Given the description of an element on the screen output the (x, y) to click on. 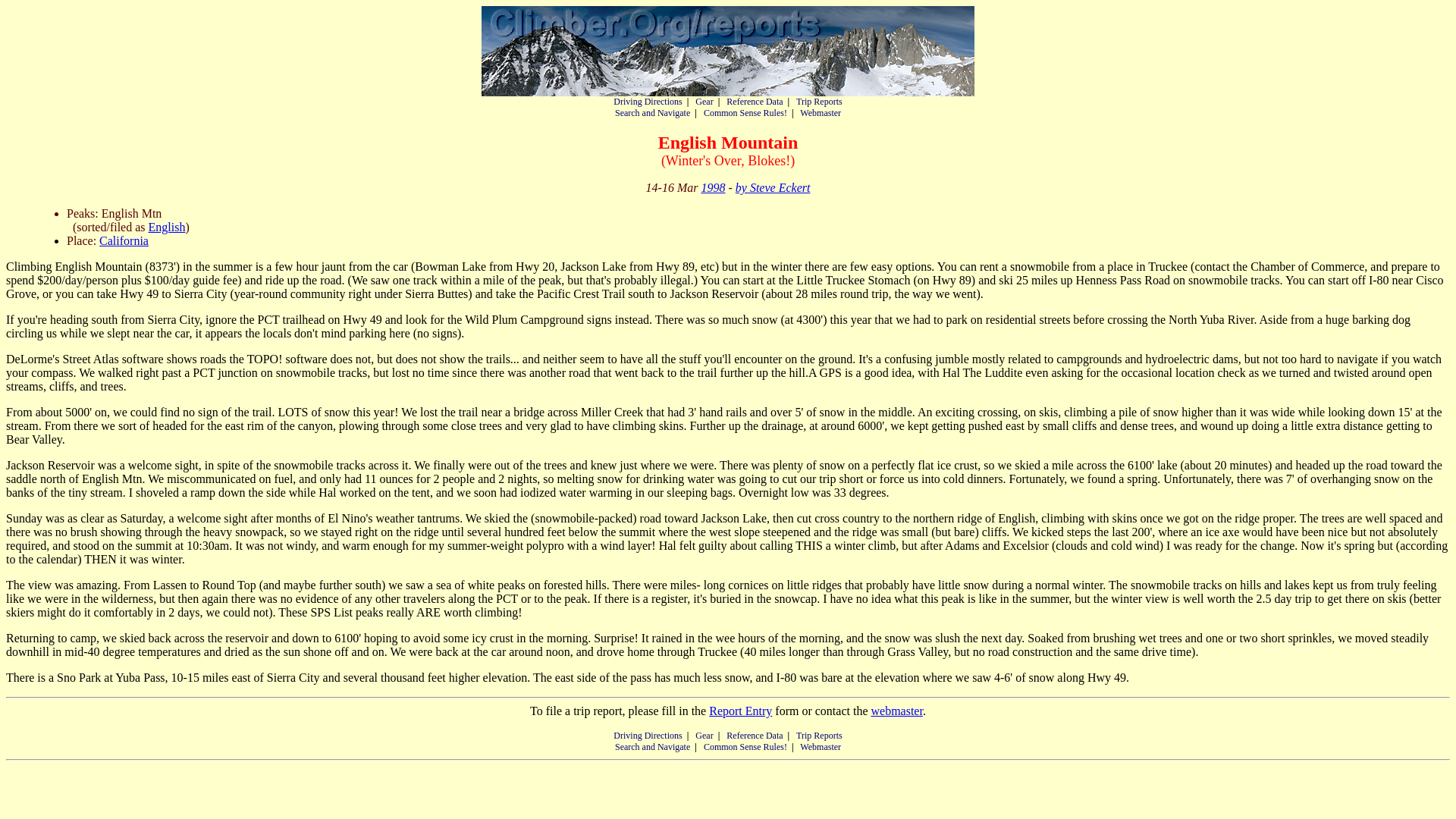
Reference Data (754, 735)
Trip Reports (819, 735)
Gear (704, 101)
Driving Directions (646, 735)
Search and Navigate (652, 747)
Common Sense Rules! (745, 747)
California (123, 240)
Driving Directions (646, 101)
Trip Reports (819, 101)
1998 (712, 187)
